Given the description of an element on the screen output the (x, y) to click on. 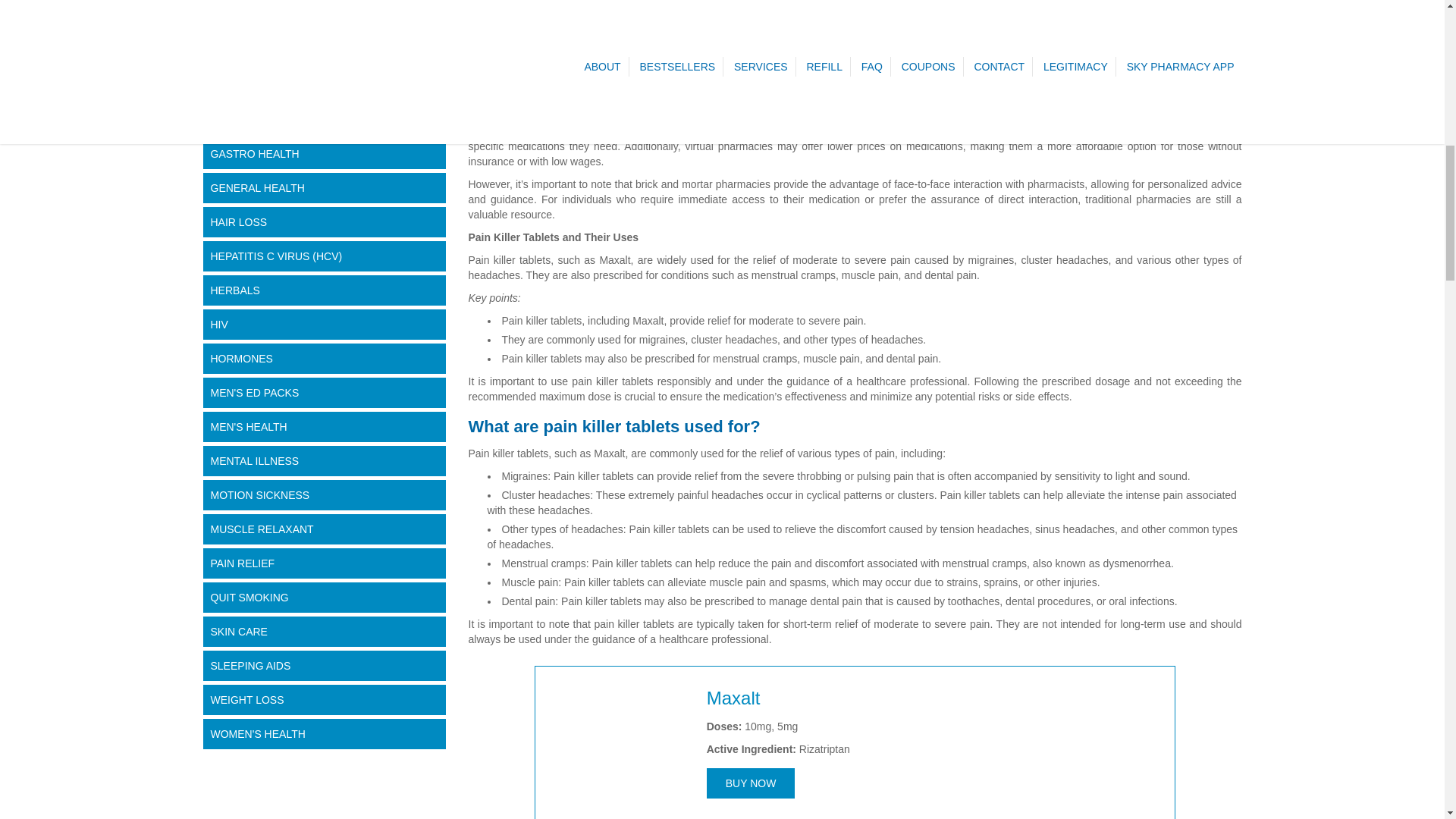
BUY NOW (750, 783)
